Given the description of an element on the screen output the (x, y) to click on. 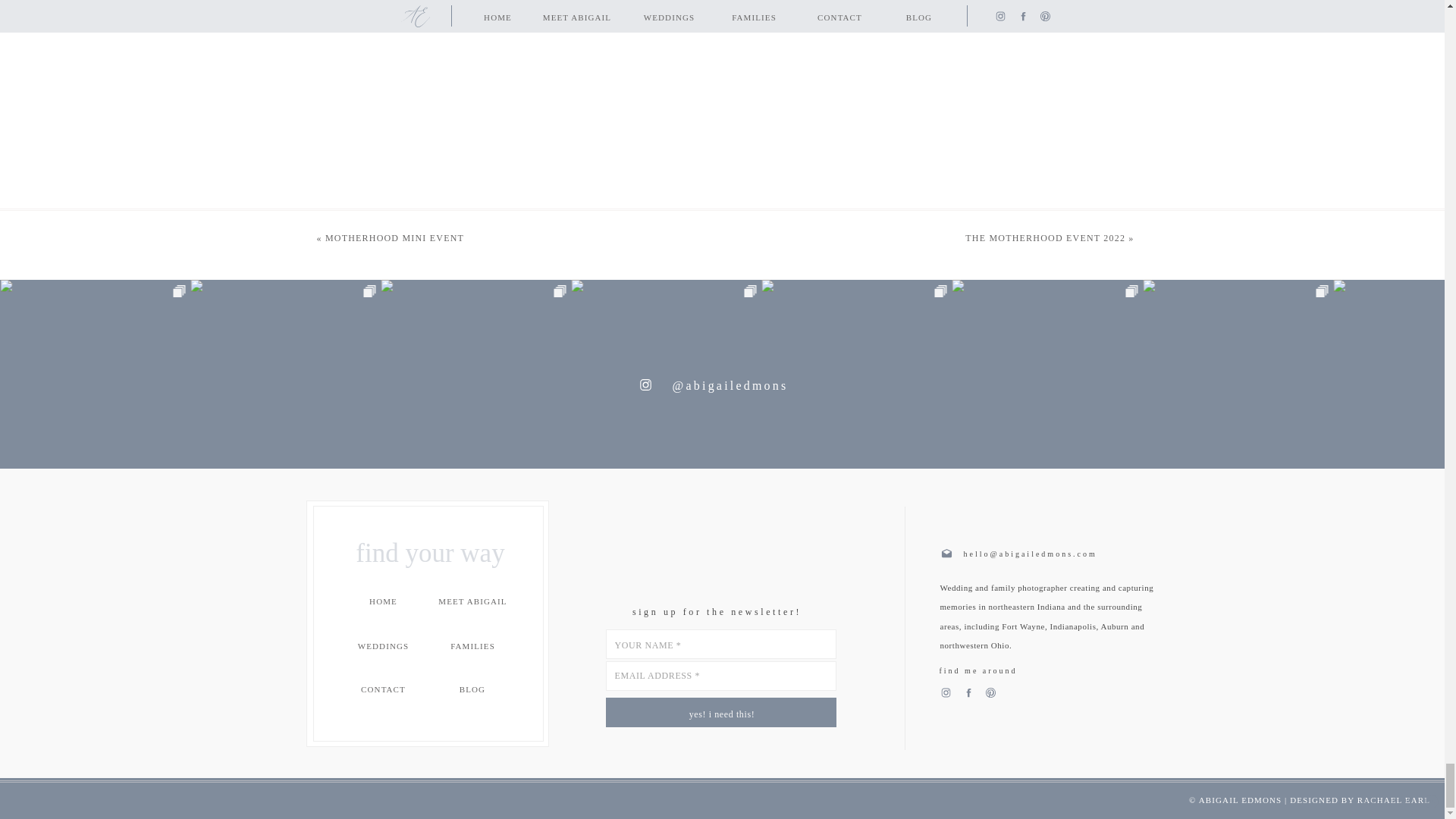
DESIGNED BY RACHAEL EARL (1359, 799)
BLOG (471, 689)
FAMILIES (472, 646)
CONTACT (383, 689)
MEET ABIGAIL (472, 601)
MOTHERHOOD MINI EVENT (394, 237)
WEDDINGS (383, 646)
THE MOTHERHOOD EVENT 2022 (1045, 237)
yes! i need this! (720, 712)
HOME (383, 601)
